Given the description of an element on the screen output the (x, y) to click on. 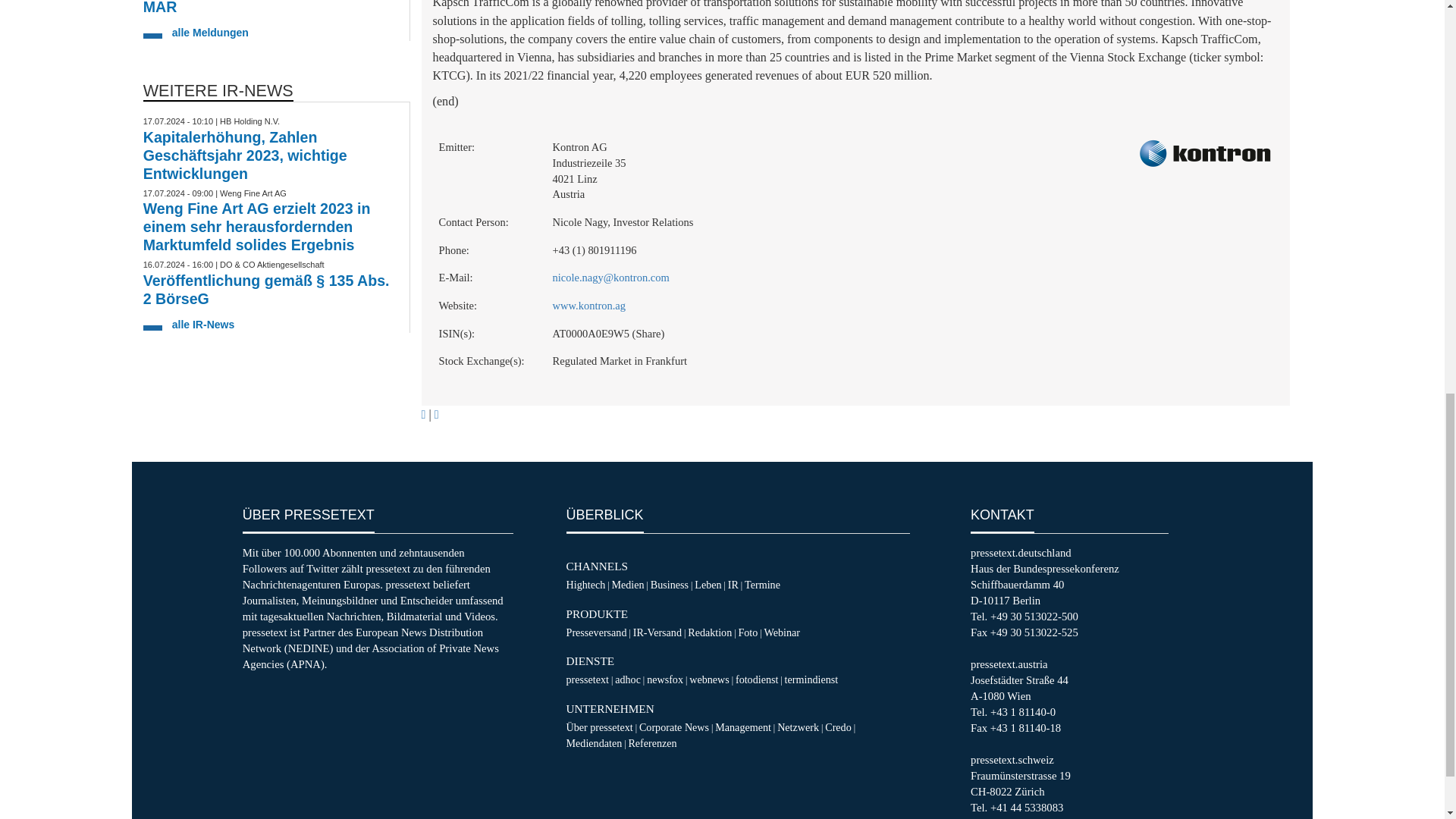
Kontron AG (1203, 153)
